Given the description of an element on the screen output the (x, y) to click on. 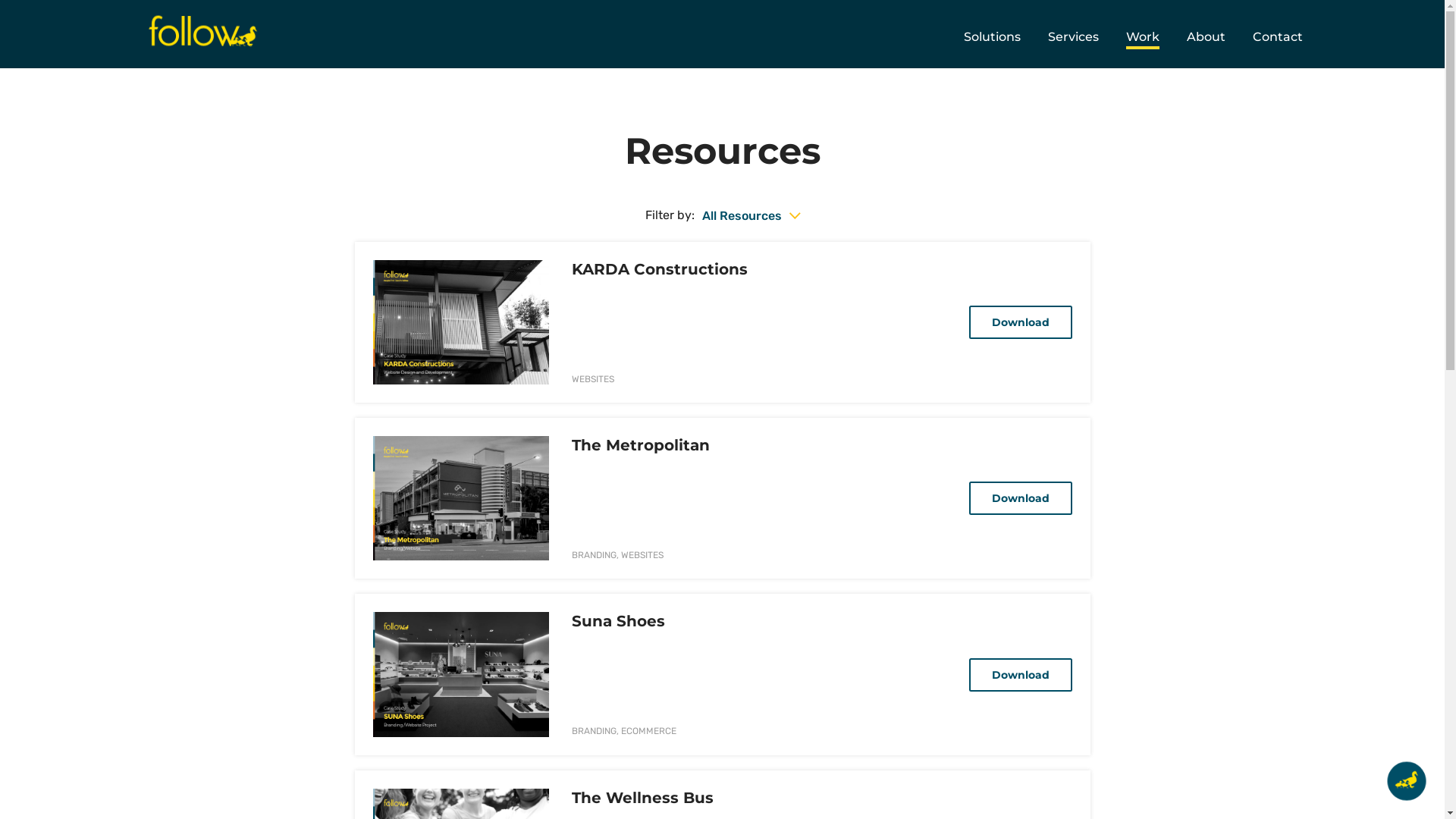
All Resources Element type: text (751, 216)
BRANDING, Element type: text (594, 554)
WEBSITES Element type: text (592, 378)
BRANDING, Element type: text (594, 730)
Download Element type: text (1020, 497)
Work Element type: text (1141, 37)
Download Element type: text (1020, 674)
WEBSITES Element type: text (642, 554)
ECOMMERCE Element type: text (648, 730)
Download Element type: text (1020, 321)
Services Element type: text (1073, 37)
Solutions Element type: text (991, 37)
About Element type: text (1205, 37)
Contact Element type: text (1277, 37)
